Given the description of an element on the screen output the (x, y) to click on. 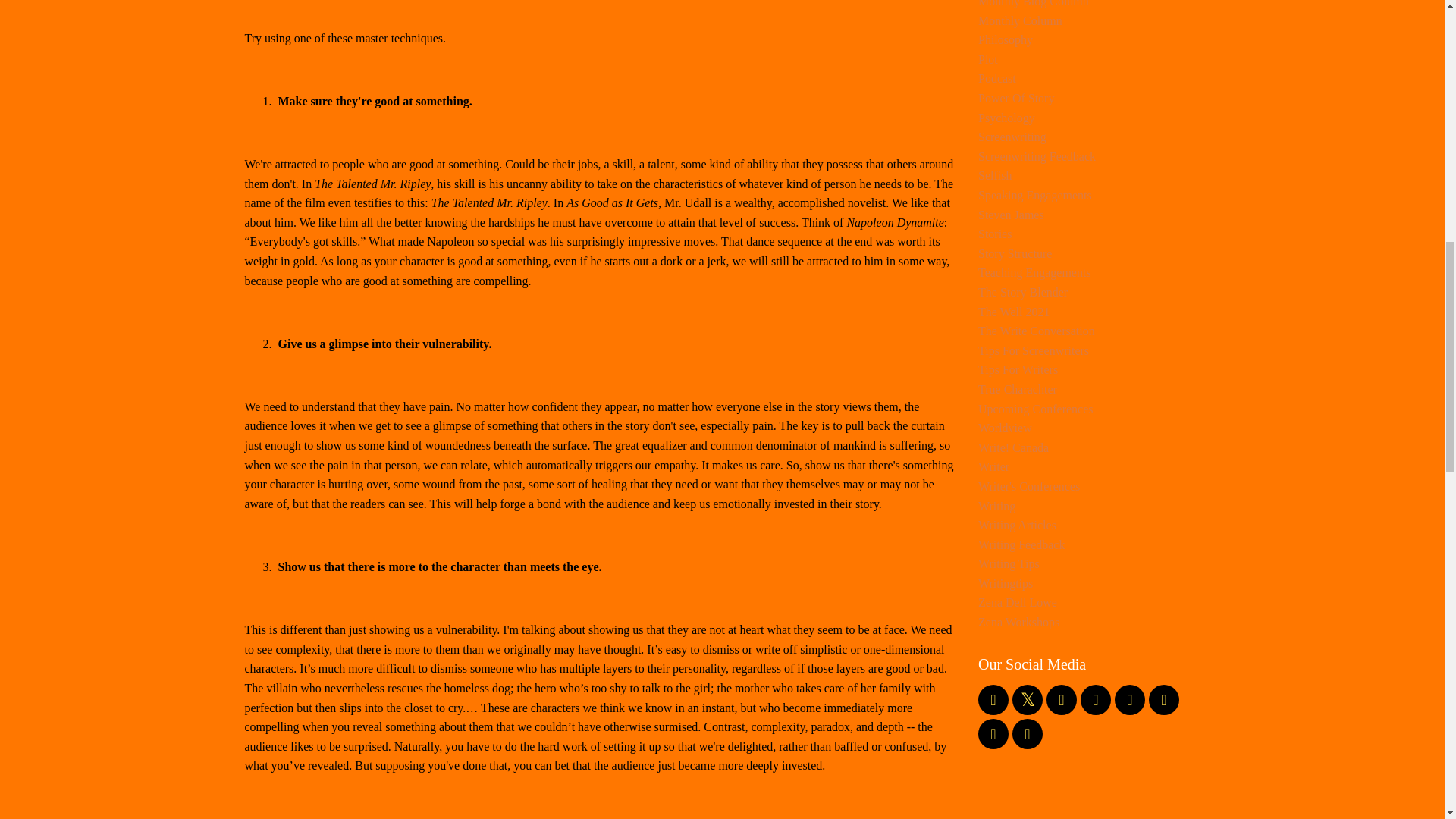
Monthly Blog Column (1088, 5)
